Given the description of an element on the screen output the (x, y) to click on. 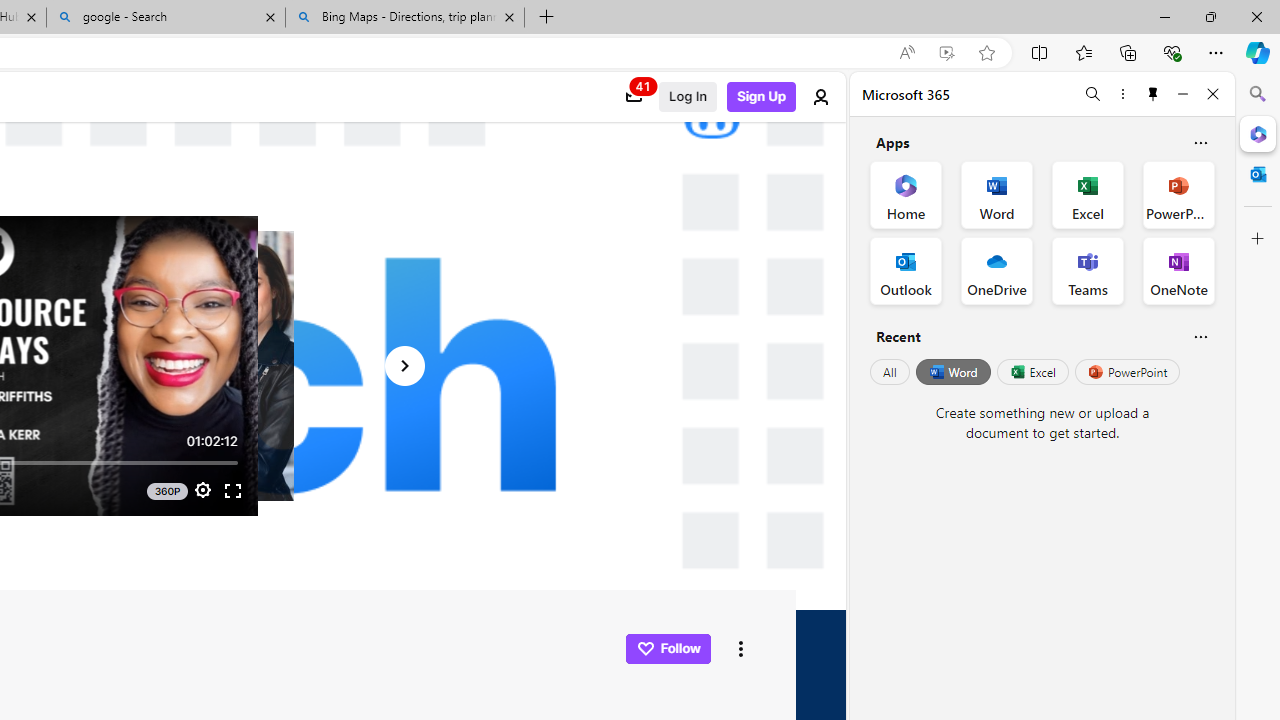
Word (952, 372)
PowerPoint (1127, 372)
Excel Office App (1087, 194)
Follow GitHub (667, 647)
Fullscreen (f) (232, 490)
Class: ScSvg-sc-1hrsqw6-1 ihOSMR (644, 647)
Sign Up (762, 97)
